Given the description of an element on the screen output the (x, y) to click on. 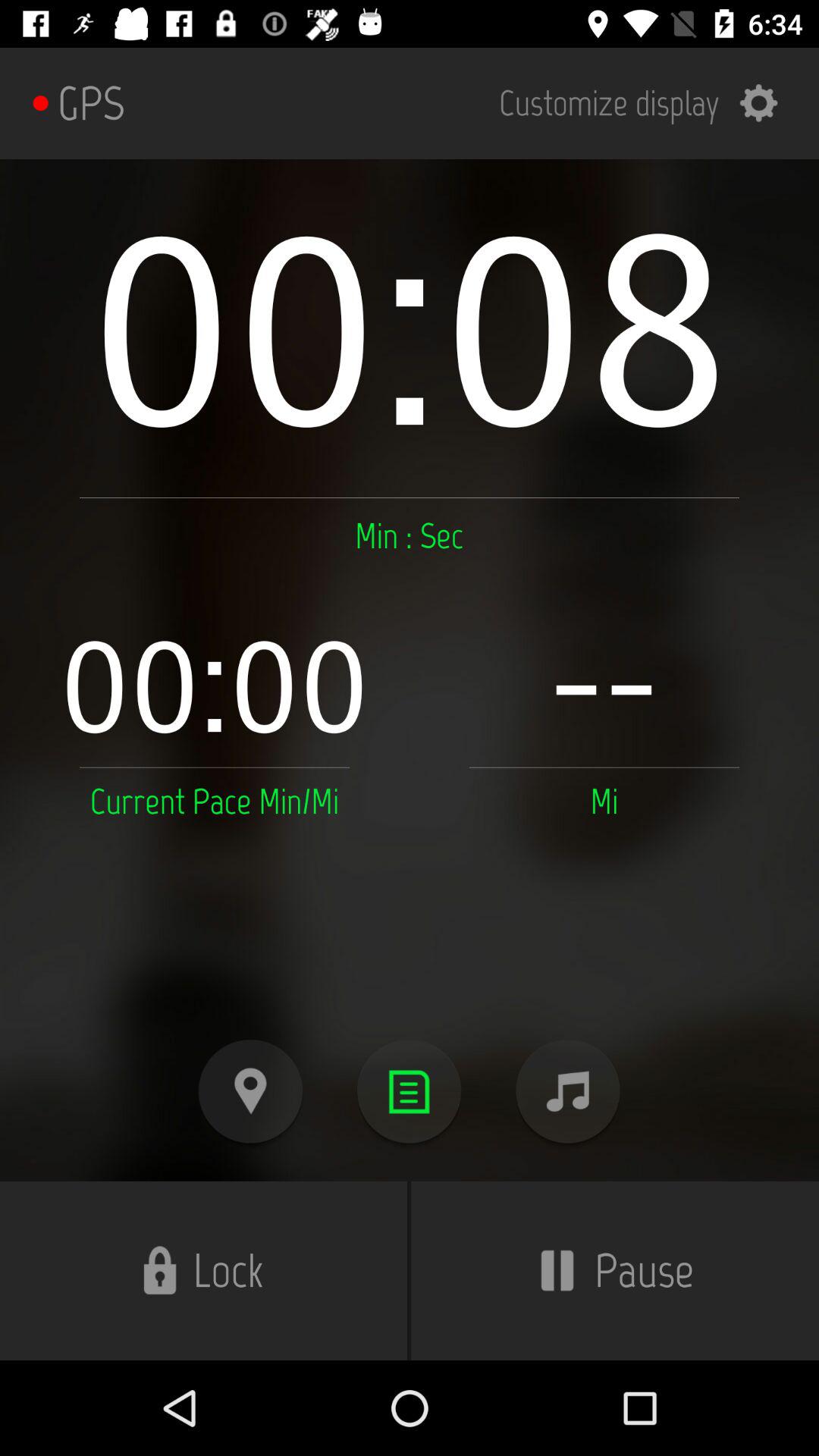
go to main (408, 1091)
